Given the description of an element on the screen output the (x, y) to click on. 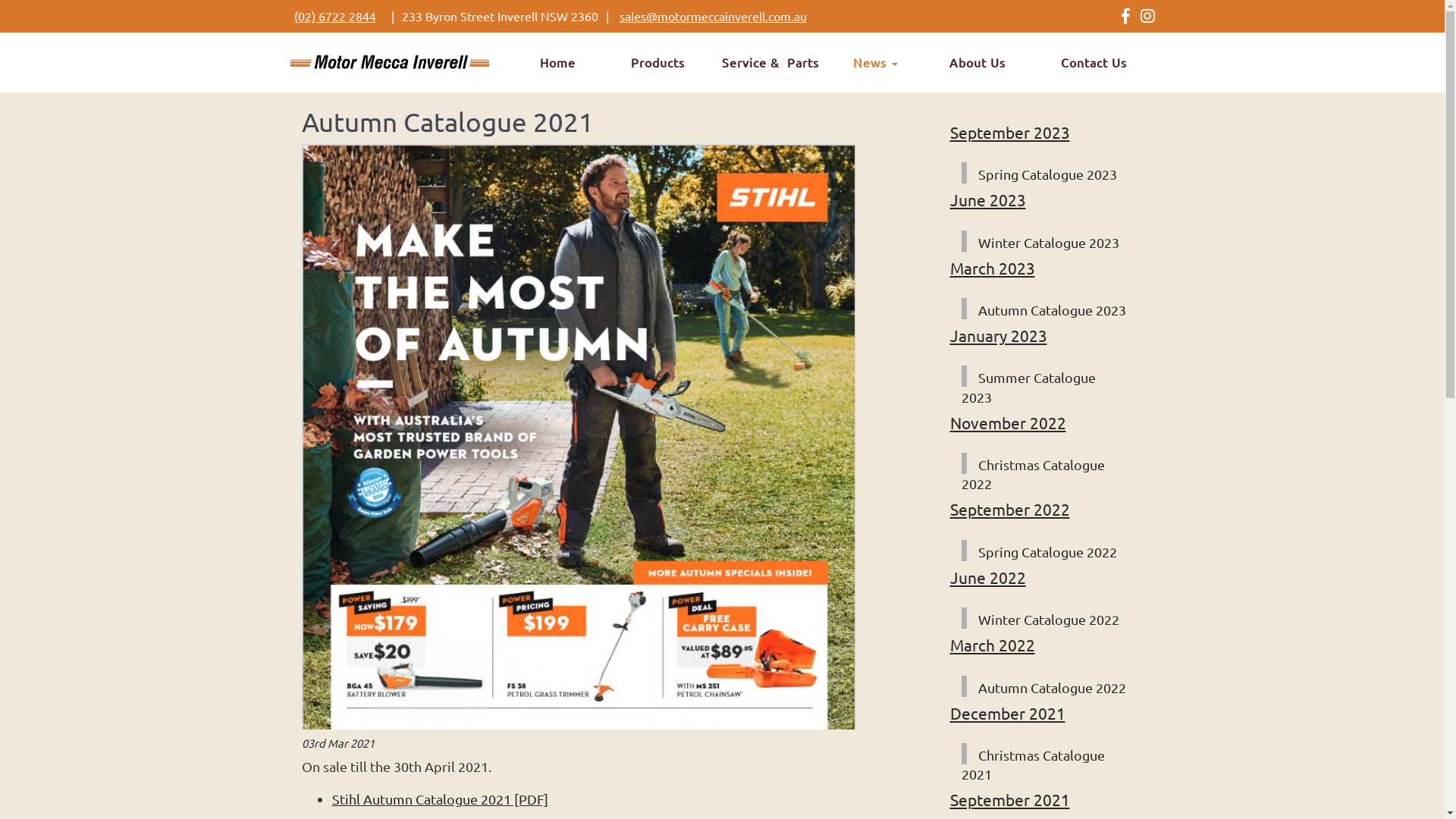
Stihl Autumn Catalogue 2021 [PDF] Element type: text (440, 798)
News  Element type: text (874, 62)
Summer Catalogue 2023 Element type: text (1028, 385)
June 2022 Element type: text (987, 576)
March 2022 Element type: text (991, 644)
June 2023 Element type: text (987, 199)
Winter Catalogue 2022 Element type: text (1043, 617)
Autumn Catalogue 2022 Element type: text (1047, 685)
About Us Element type: text (976, 62)
September 2022 Element type: text (1009, 508)
Contact Us Element type: text (1093, 62)
Spring Catalogue 2023 Element type: text (1042, 172)
(02) 6722 2844 Element type: text (334, 15)
September 2023 Element type: text (1009, 131)
September 2021 Element type: text (1009, 799)
Autumn Catalogue 2023 Element type: text (1047, 308)
Christmas Catalogue 2021 Element type: text (1032, 763)
Spring Catalogue 2022 Element type: text (1042, 550)
Products Element type: text (657, 62)
December 2021 Element type: text (1006, 712)
Home Element type: text (556, 62)
sales@motormeccainverell.com.au Element type: text (712, 15)
Winter Catalogue 2023 Element type: text (1043, 240)
March 2023 Element type: text (991, 267)
January 2023 Element type: text (997, 335)
Service &  Parts Element type: text (770, 62)
November 2022 Element type: text (1007, 422)
Christmas Catalogue 2022 Element type: text (1032, 472)
